Given the description of an element on the screen output the (x, y) to click on. 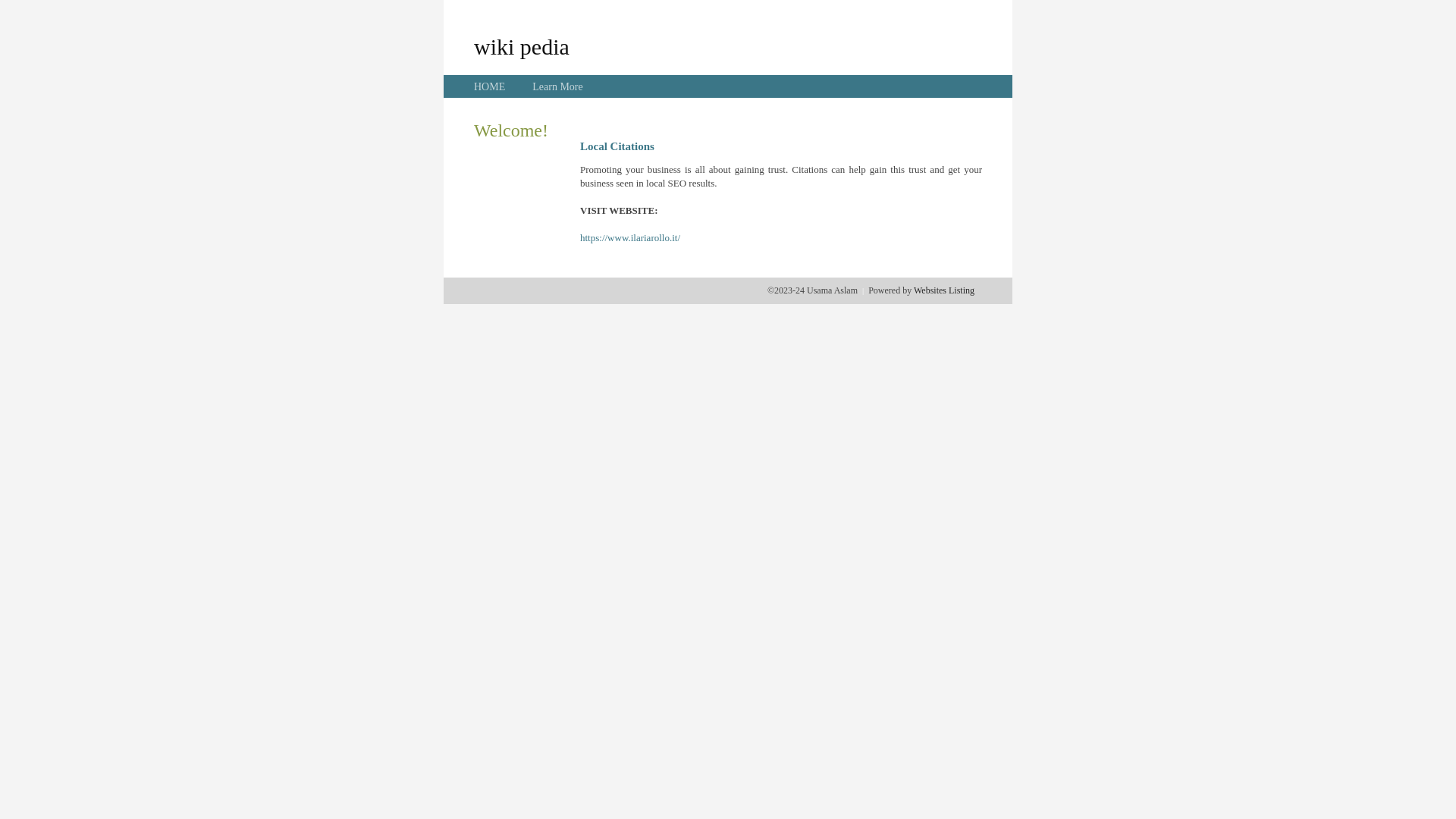
https://www.ilariarollo.it/ Element type: text (630, 237)
wiki pedia Element type: text (521, 46)
Websites Listing Element type: text (943, 290)
HOME Element type: text (489, 86)
Learn More Element type: text (557, 86)
